Given the description of an element on the screen output the (x, y) to click on. 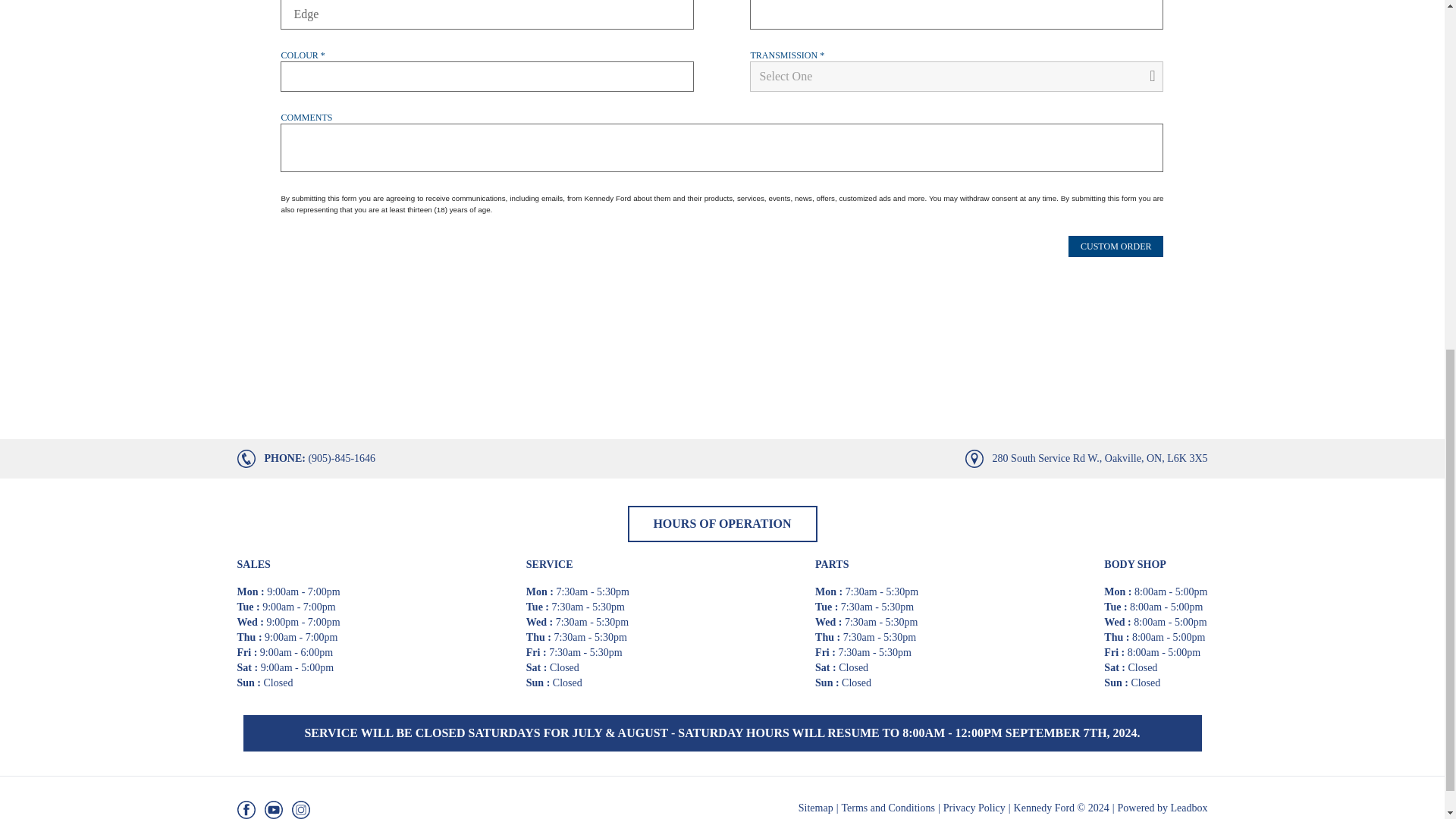
Edge (487, 14)
Custom Order (1115, 246)
